Given the description of an element on the screen output the (x, y) to click on. 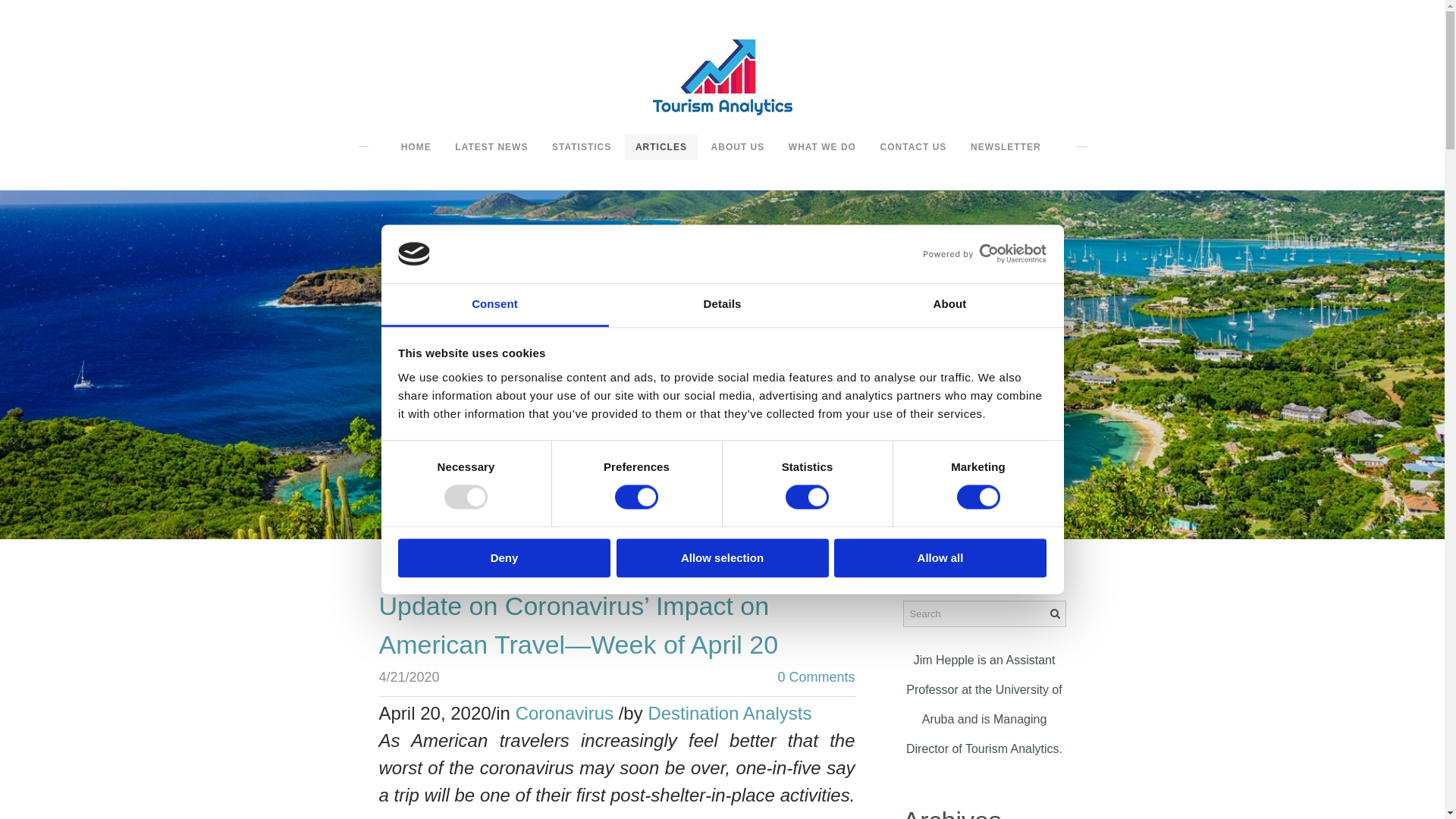
Deny (503, 557)
Details (721, 304)
Allow selection (721, 557)
About (948, 304)
Allow all (940, 557)
Search (1054, 613)
Consent (494, 304)
